Given the description of an element on the screen output the (x, y) to click on. 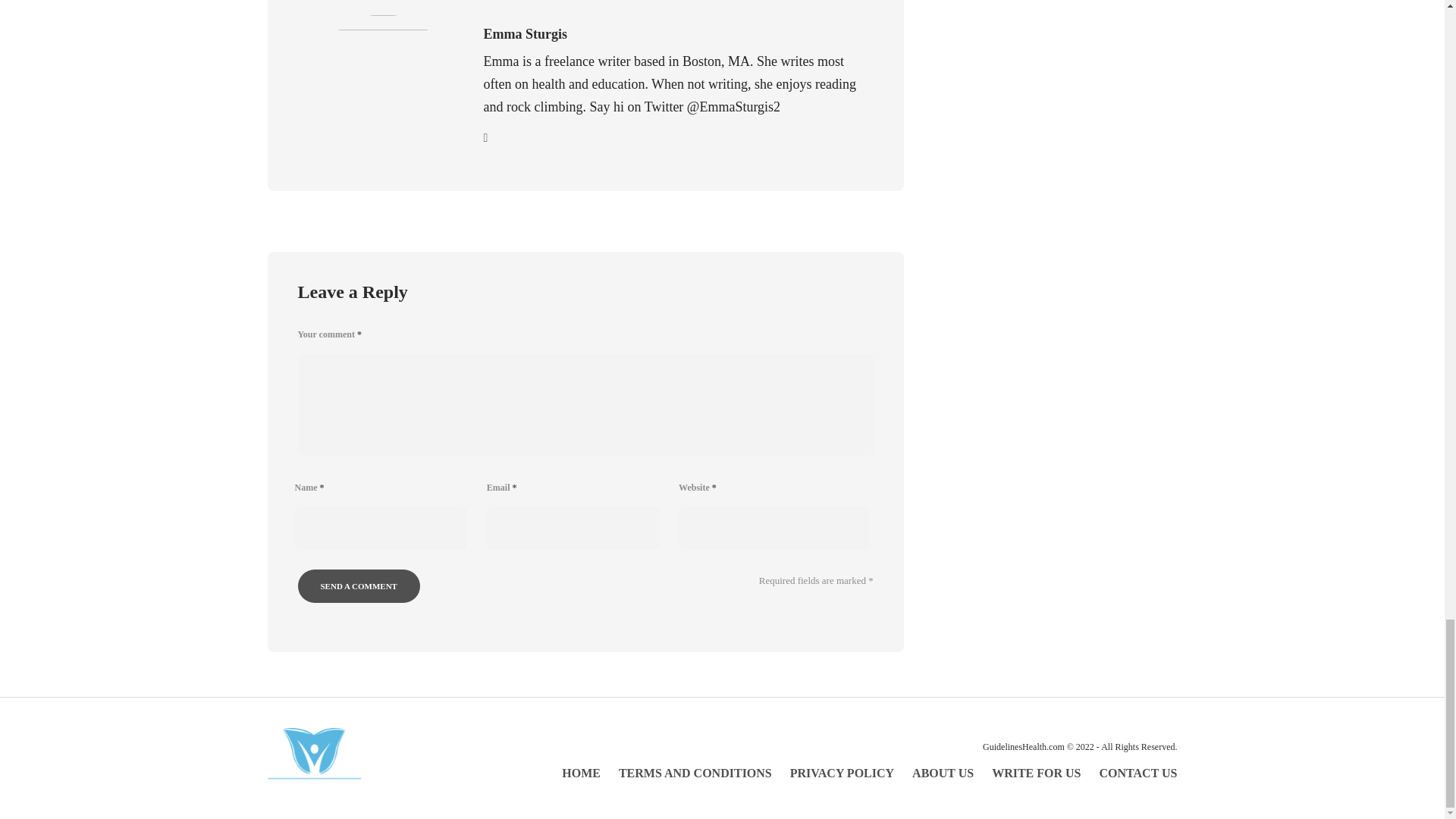
Send a comment (358, 585)
